Given the description of an element on the screen output the (x, y) to click on. 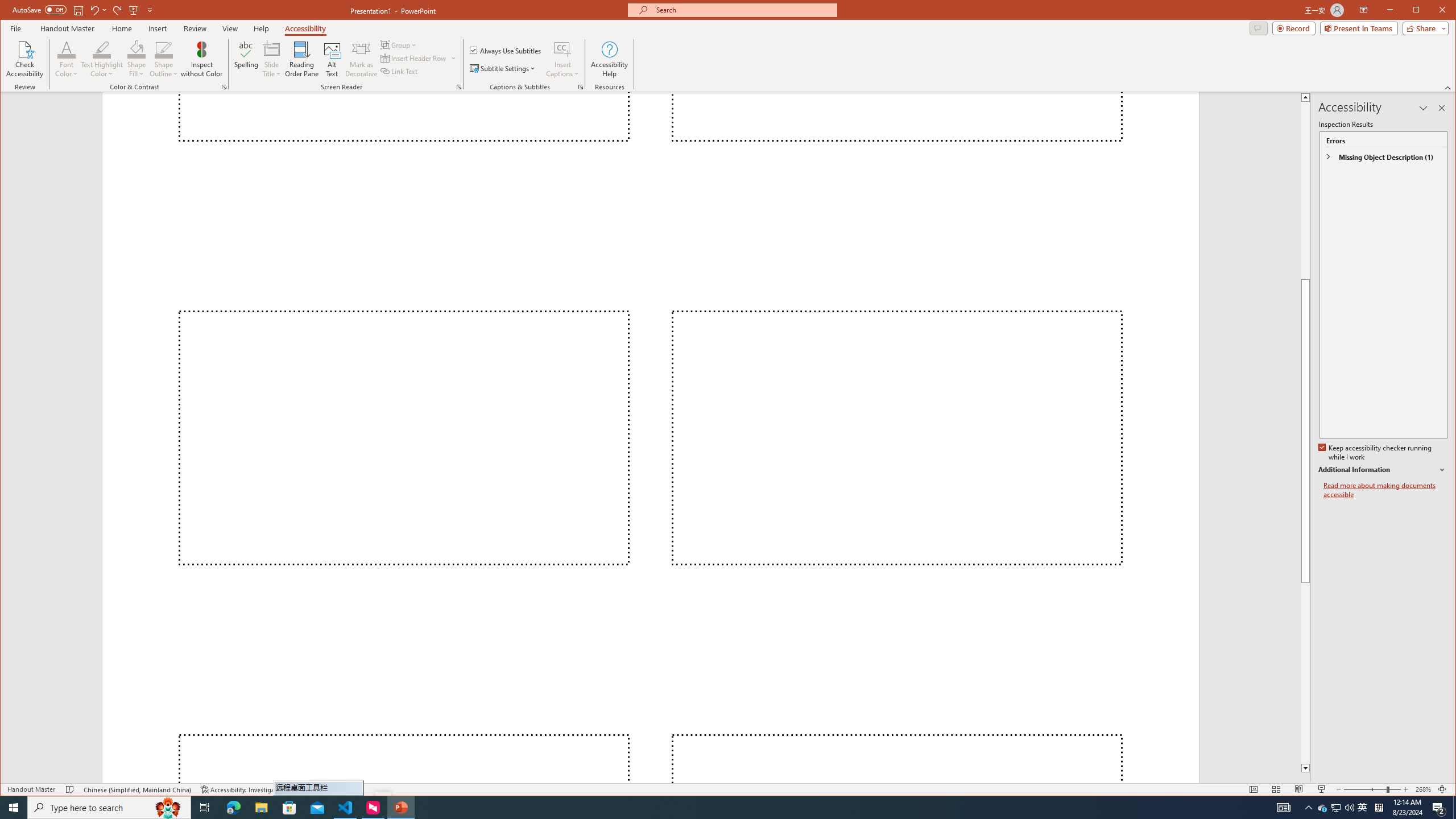
Check Accessibility (25, 59)
Screen Reader (458, 86)
Shape Fill (136, 59)
Reading Order Pane (301, 59)
Slide Title (271, 48)
Zoom 268% (1422, 789)
Microsoft Store (289, 807)
Insert Header Row (413, 57)
Maximize (1432, 11)
